Given the description of an element on the screen output the (x, y) to click on. 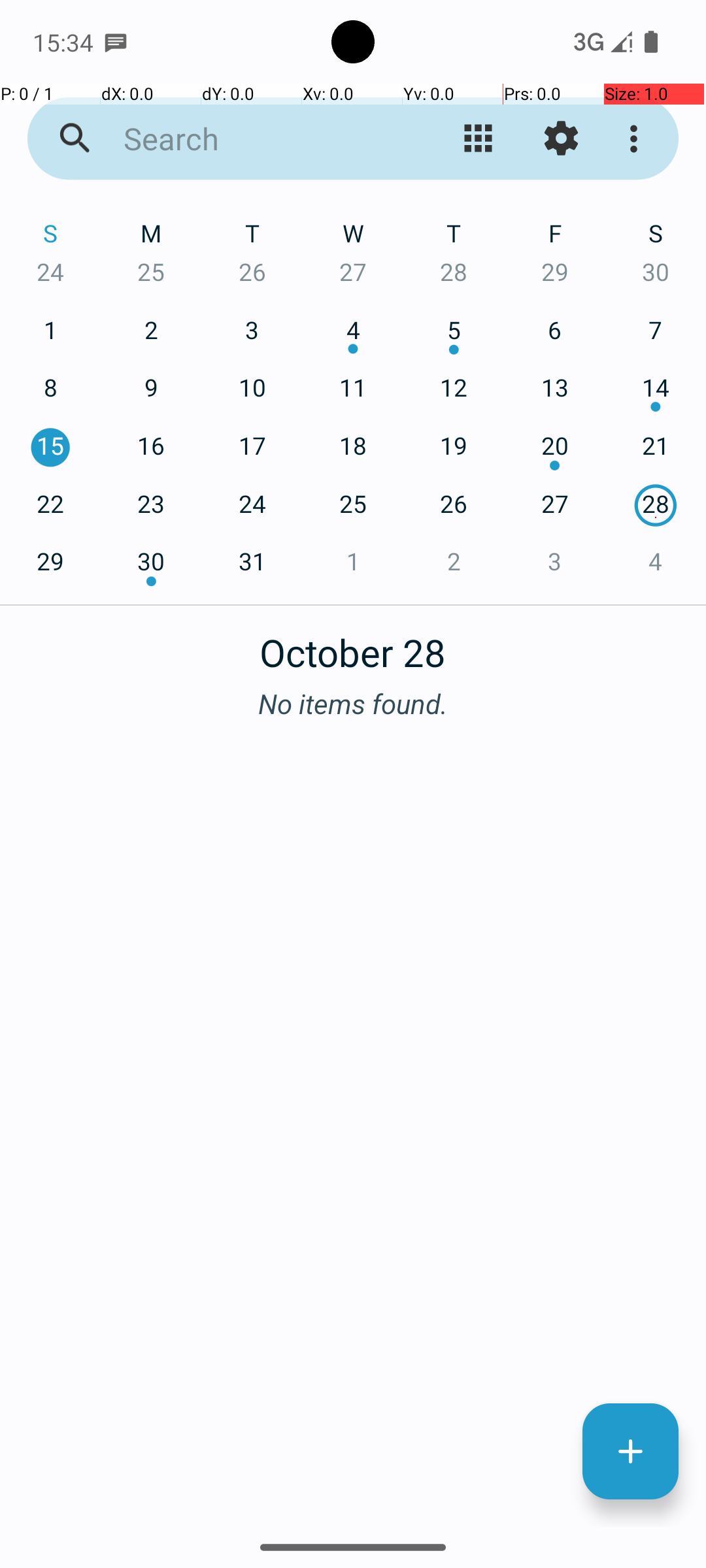
October 28 Element type: android.widget.TextView (352, 644)
